Given the description of an element on the screen output the (x, y) to click on. 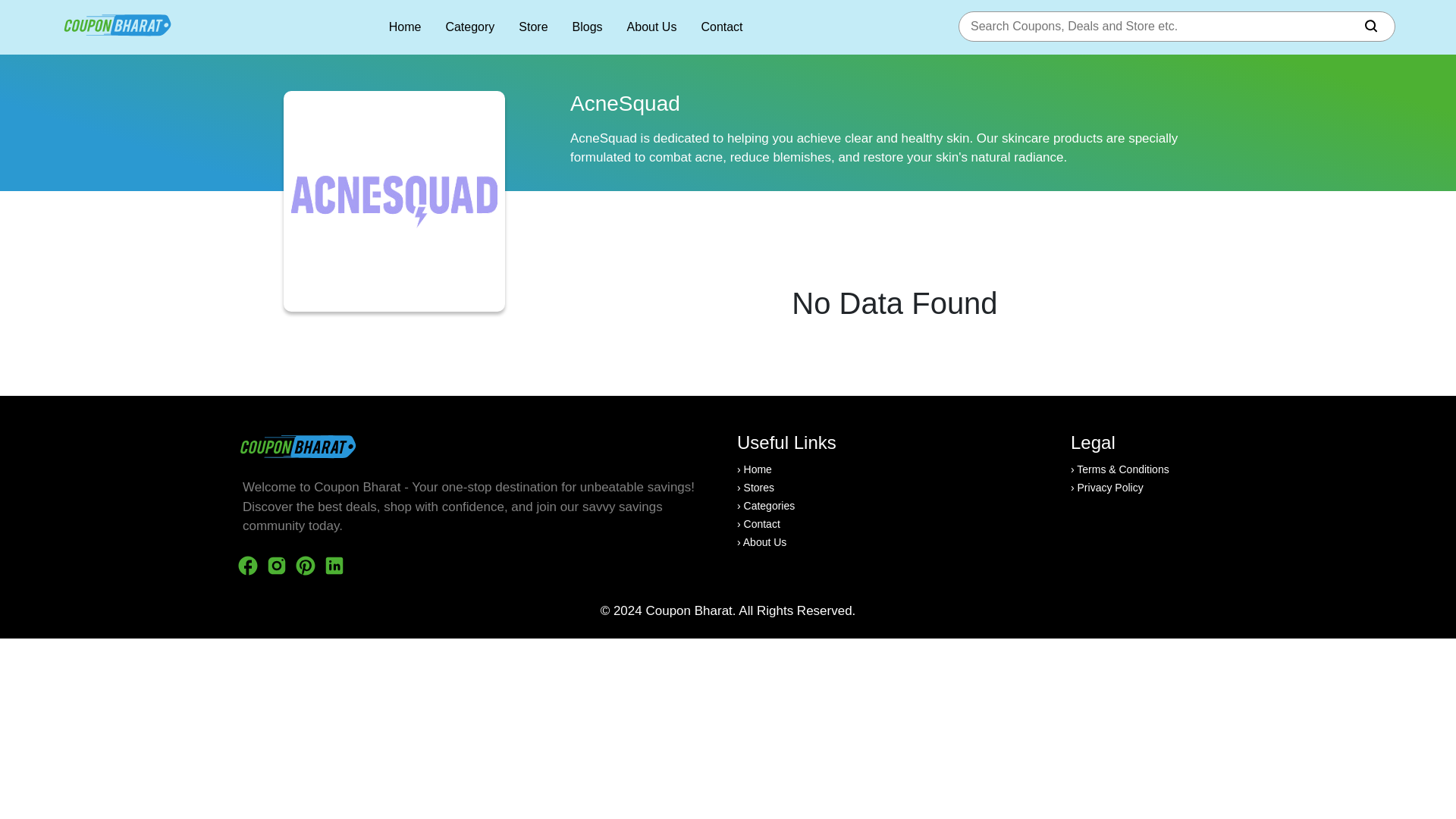
Category (470, 27)
Store (532, 27)
Blogs (587, 27)
Contact (721, 27)
About Us (652, 27)
Home (405, 27)
